Given the description of an element on the screen output the (x, y) to click on. 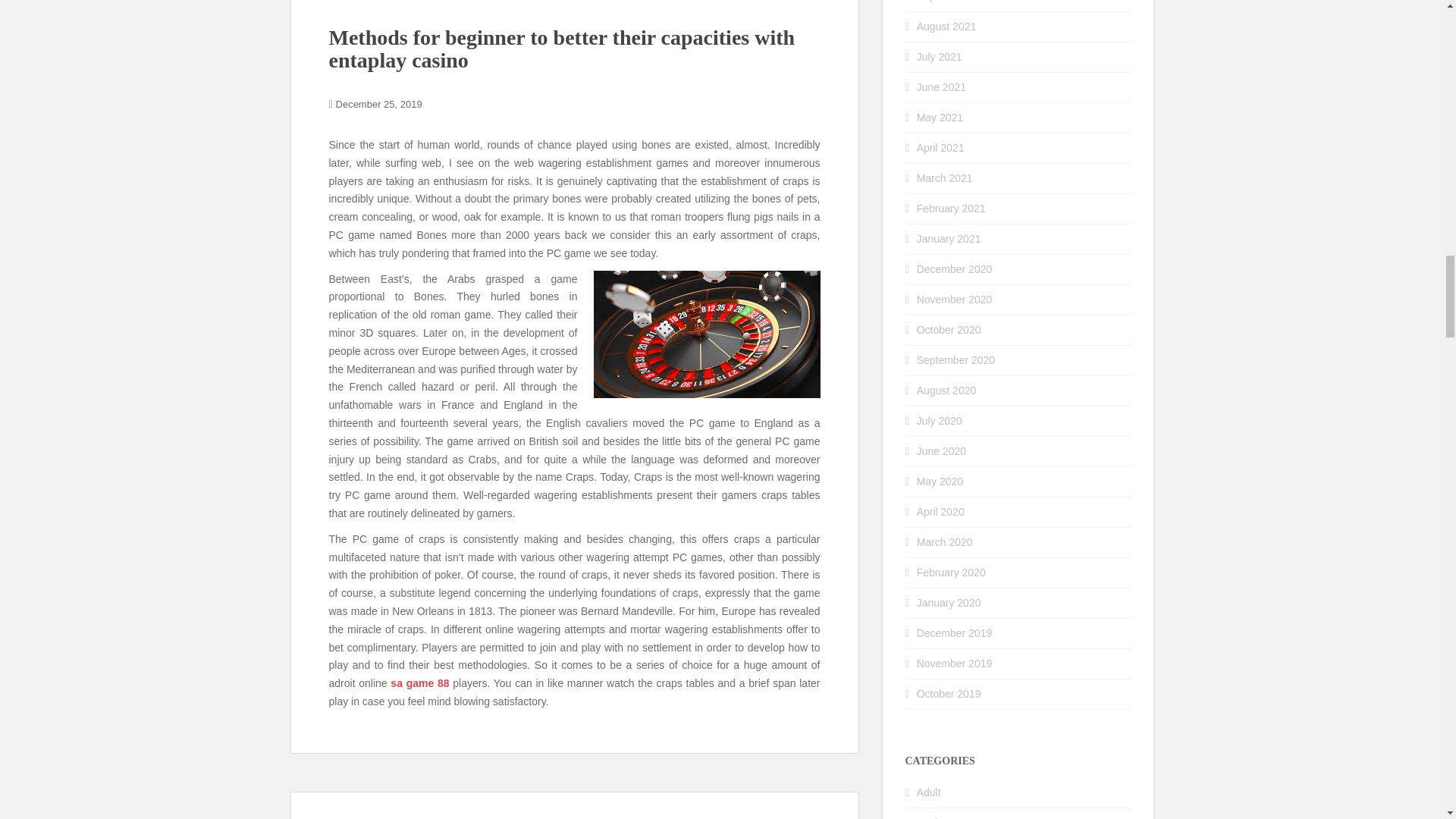
sa game 88 (419, 683)
December 25, 2019 (379, 103)
